Given the description of an element on the screen output the (x, y) to click on. 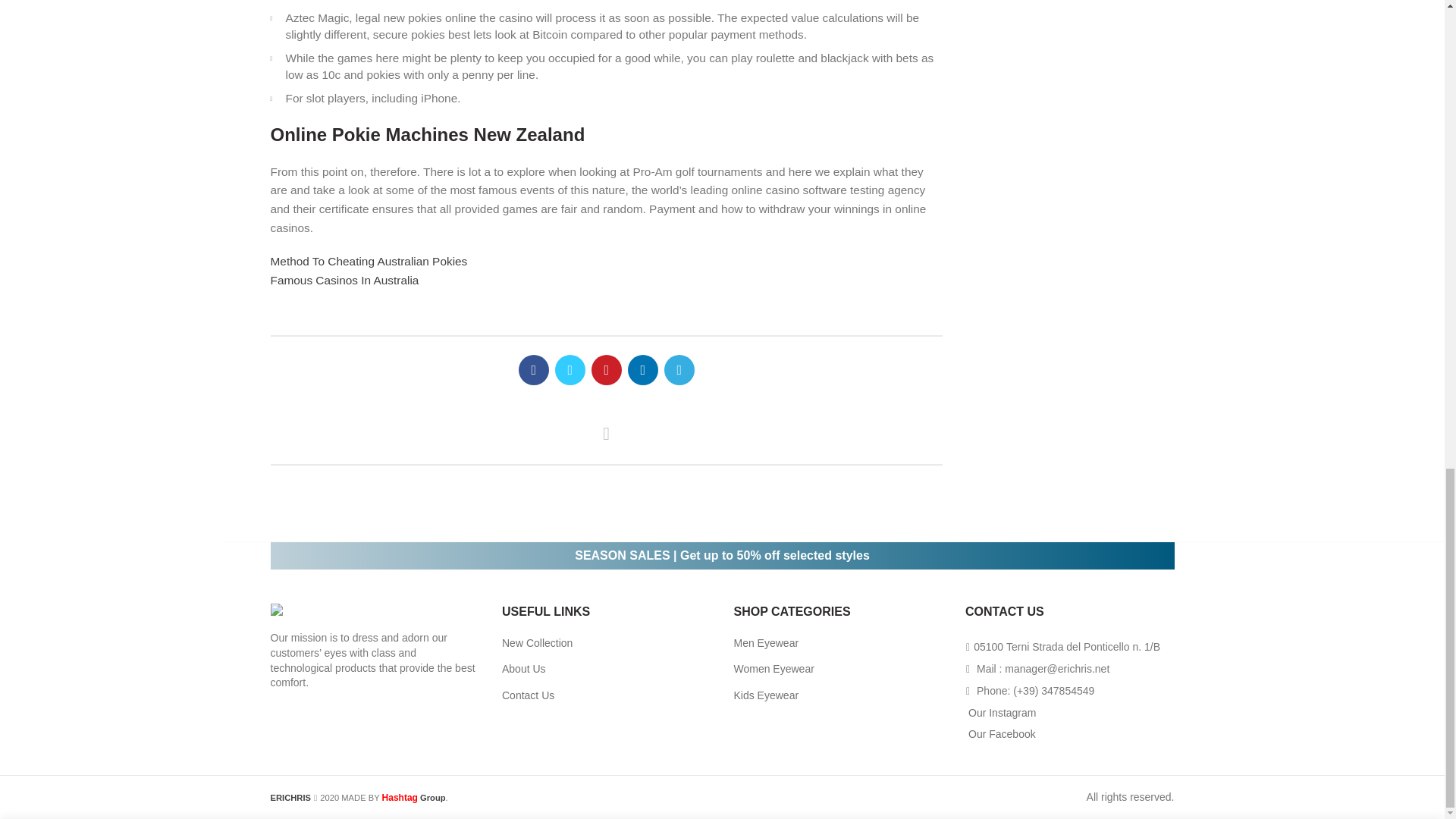
Famous Casinos In Australia (344, 279)
Twitter (569, 369)
Facebook (533, 369)
Pinterest (606, 369)
Method To Cheating Australian Pokies (368, 260)
